Given the description of an element on the screen output the (x, y) to click on. 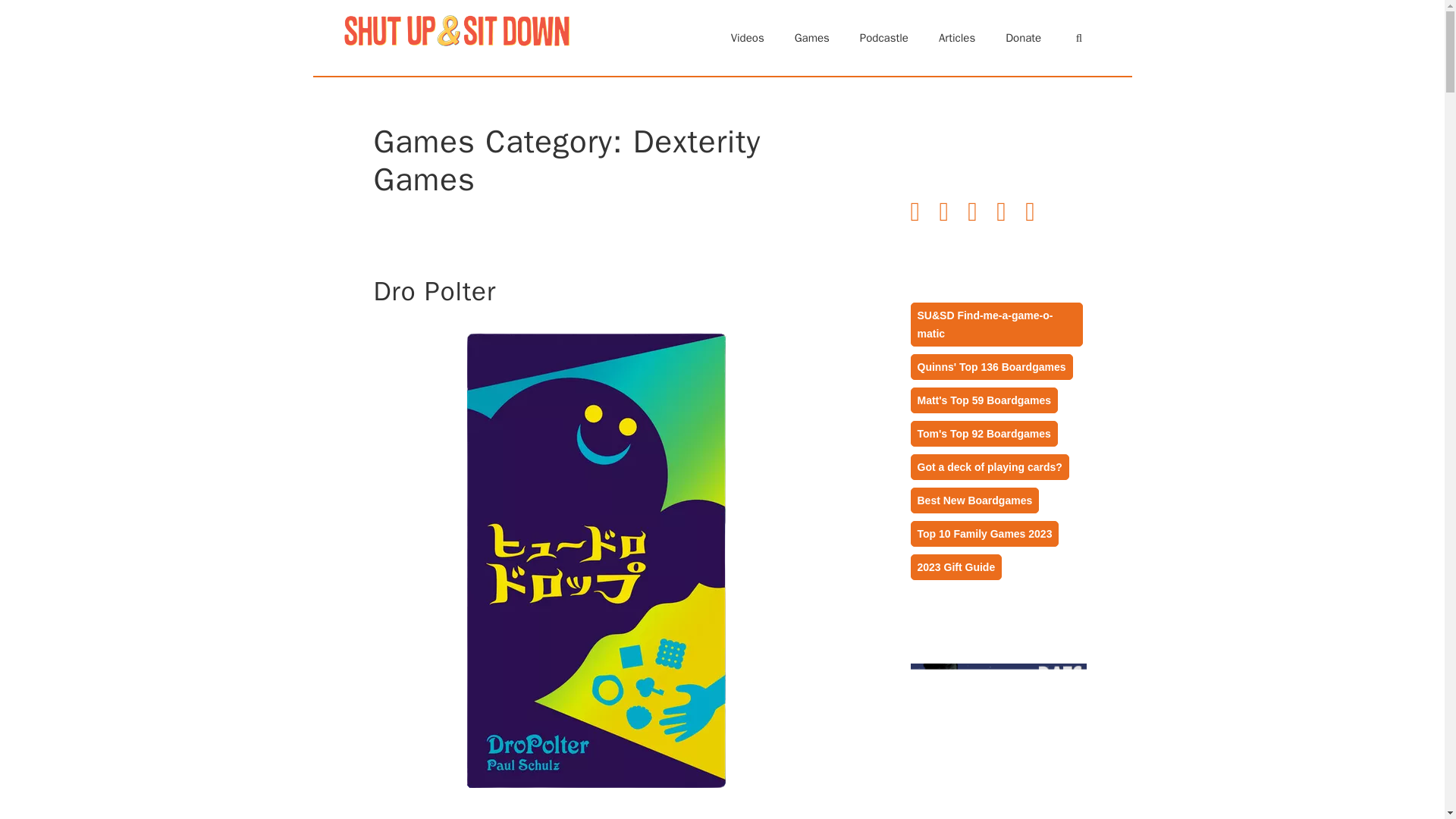
Games (811, 37)
Videos (747, 37)
Articles (956, 37)
Podcastle (883, 37)
Dro Polter (434, 290)
Donate (1023, 37)
